Given the description of an element on the screen output the (x, y) to click on. 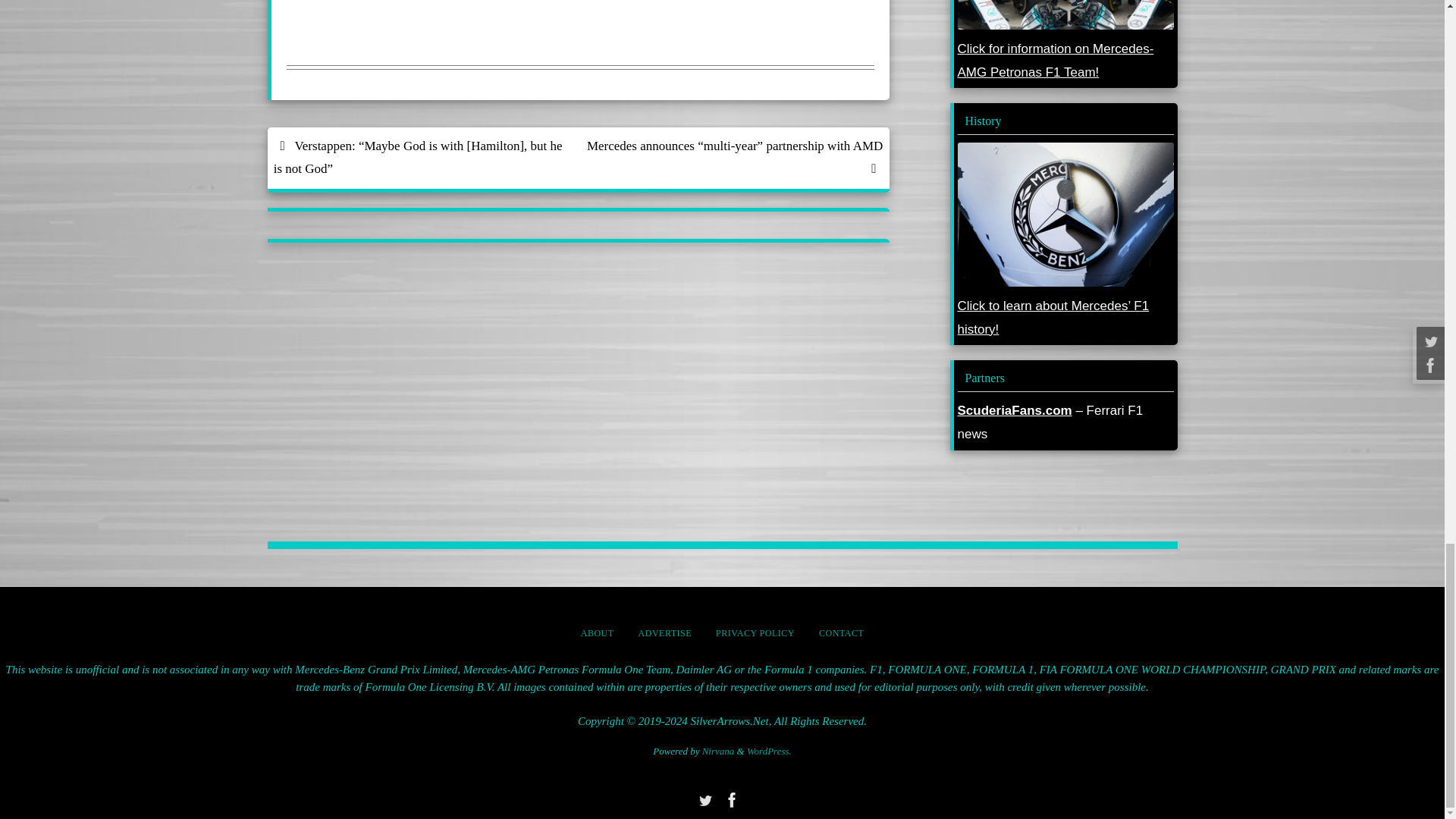
Semantic Personal Publishing Platform (769, 750)
Nirvana Theme by Cryout Creations (718, 750)
SilverArrows.Net on Twitter (704, 799)
